Given the description of an element on the screen output the (x, y) to click on. 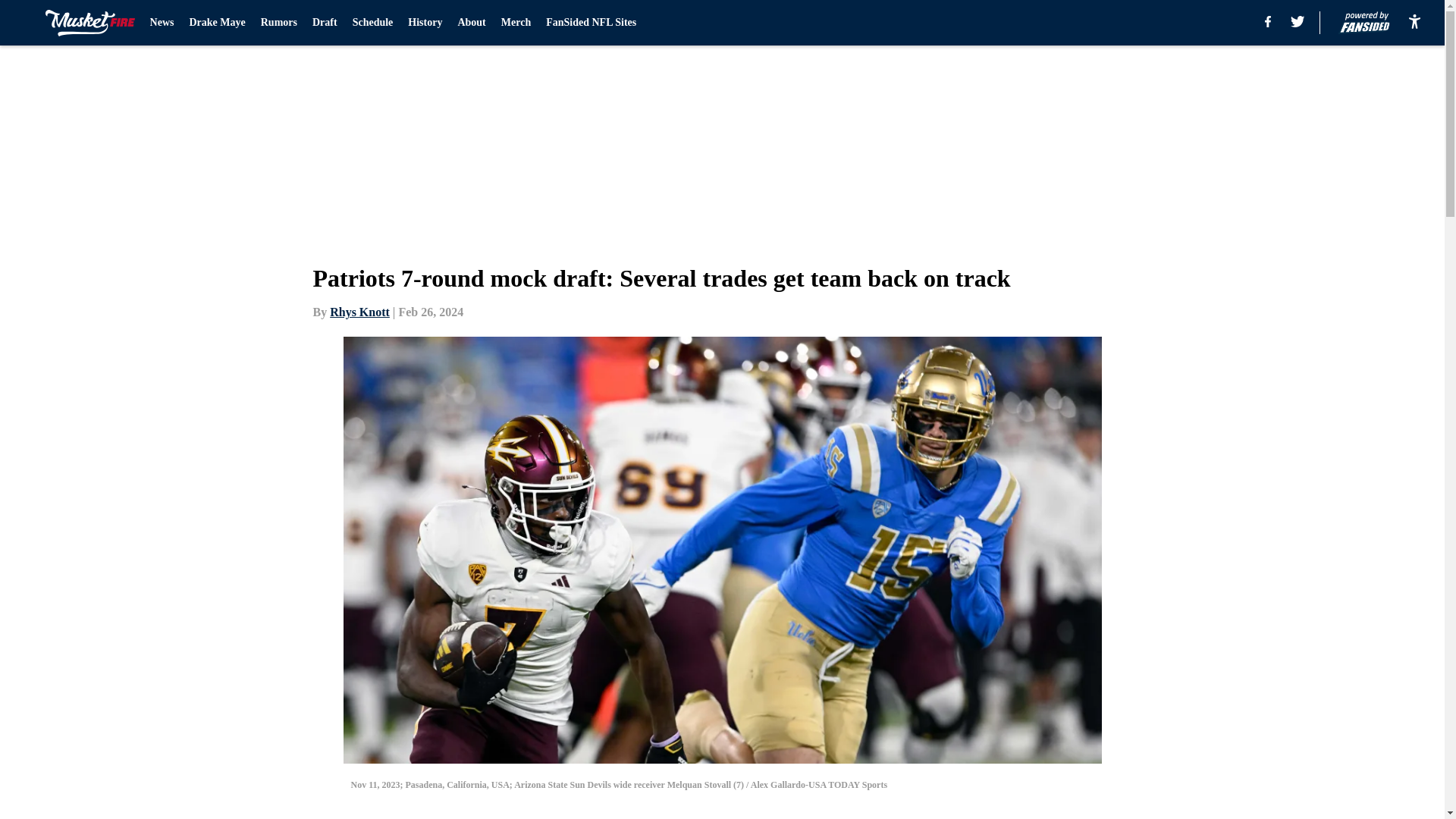
Draft (325, 22)
Rhys Knott (360, 311)
FanSided NFL Sites (591, 22)
Rumors (278, 22)
Merch (515, 22)
News (161, 22)
History (424, 22)
Schedule (372, 22)
About (470, 22)
Drake Maye (216, 22)
